Given the description of an element on the screen output the (x, y) to click on. 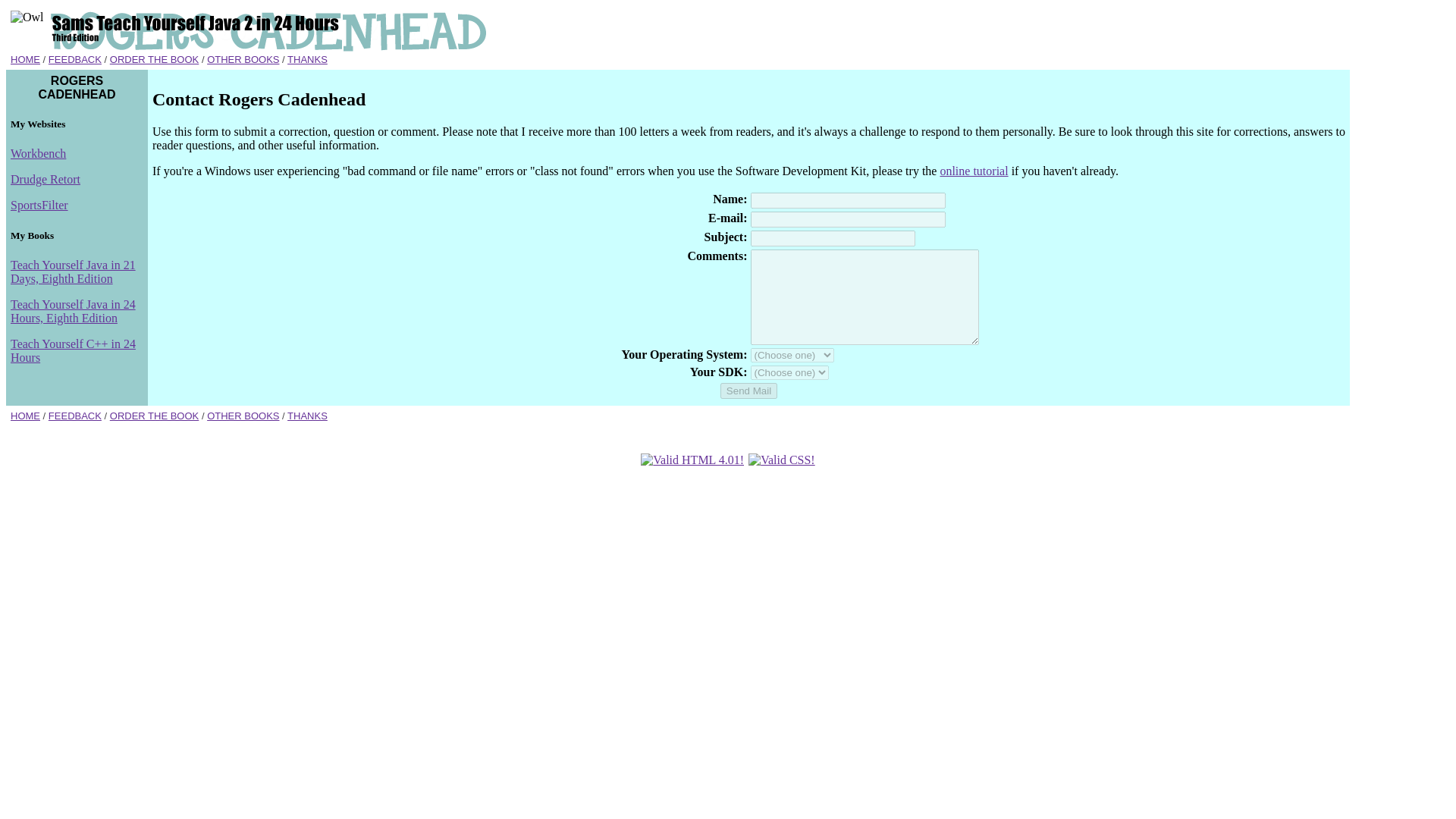
Send Mail (748, 390)
SportsFilter (39, 205)
ORDER THE BOOK (154, 415)
THANKS (306, 415)
Teach Yourself Java in 24 Hours, Eighth Edition (72, 311)
FEEDBACK (74, 59)
HOME (25, 59)
Drudge Retort (45, 178)
Teach Yourself Java in 21 Days, Eighth Edition (72, 271)
OTHER BOOKS (242, 415)
